Given the description of an element on the screen output the (x, y) to click on. 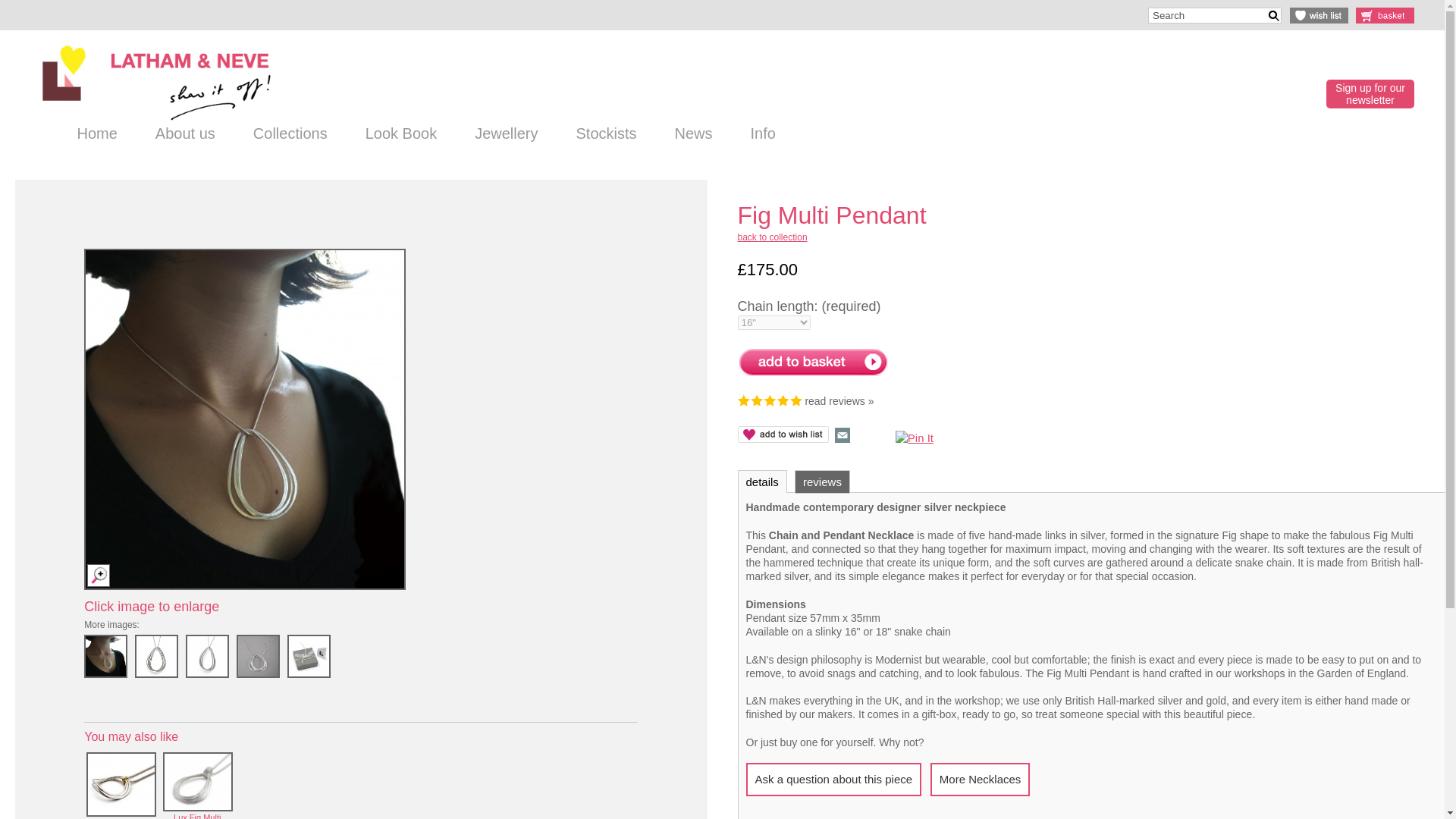
Search (1214, 15)
Look Book (401, 139)
About us (185, 139)
Collections (290, 139)
Jewellery (505, 139)
Sign up for our newsletter (1369, 93)
Home (97, 139)
